Given the description of an element on the screen output the (x, y) to click on. 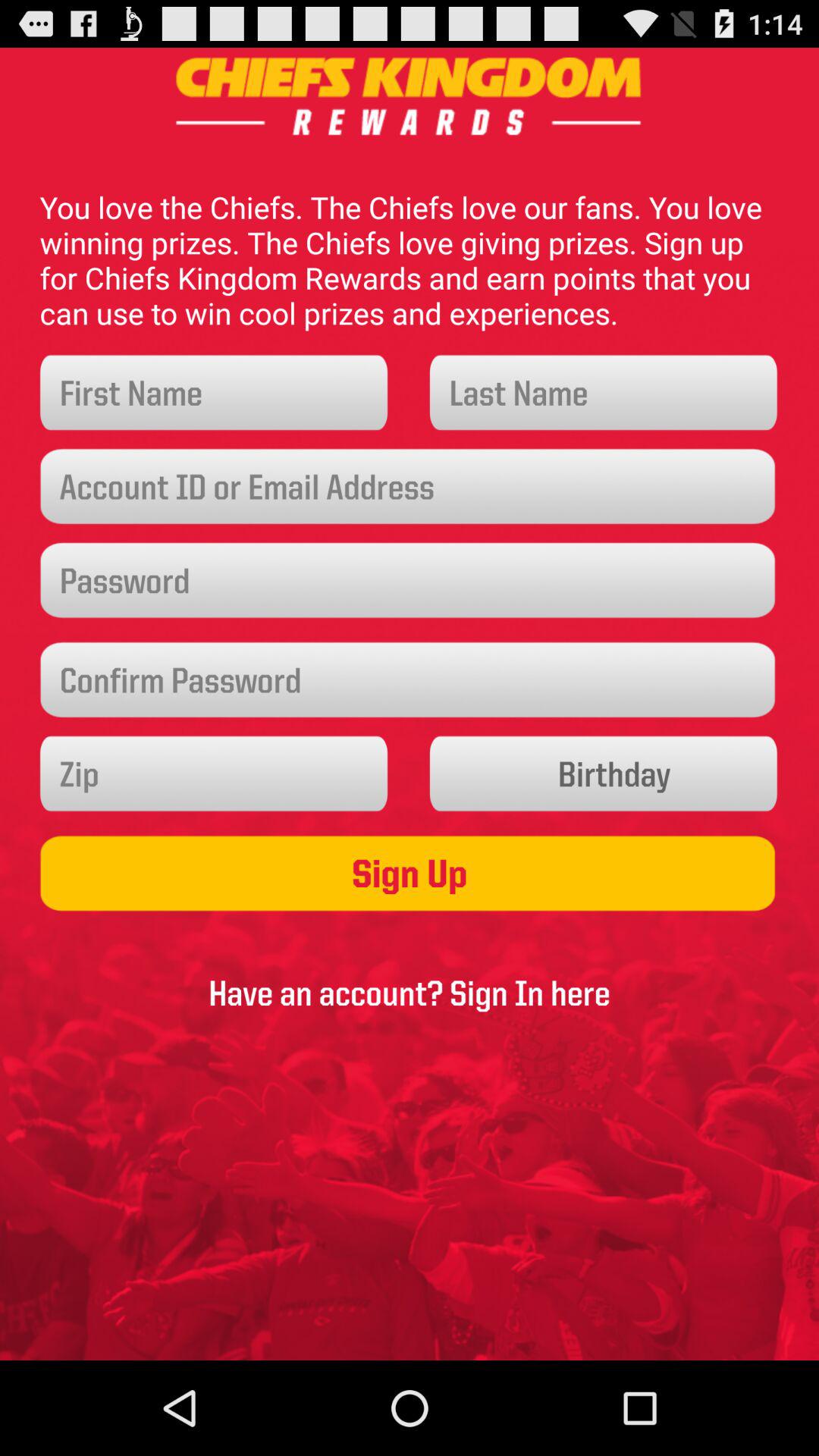
re-enter the password (409, 680)
